Given the description of an element on the screen output the (x, y) to click on. 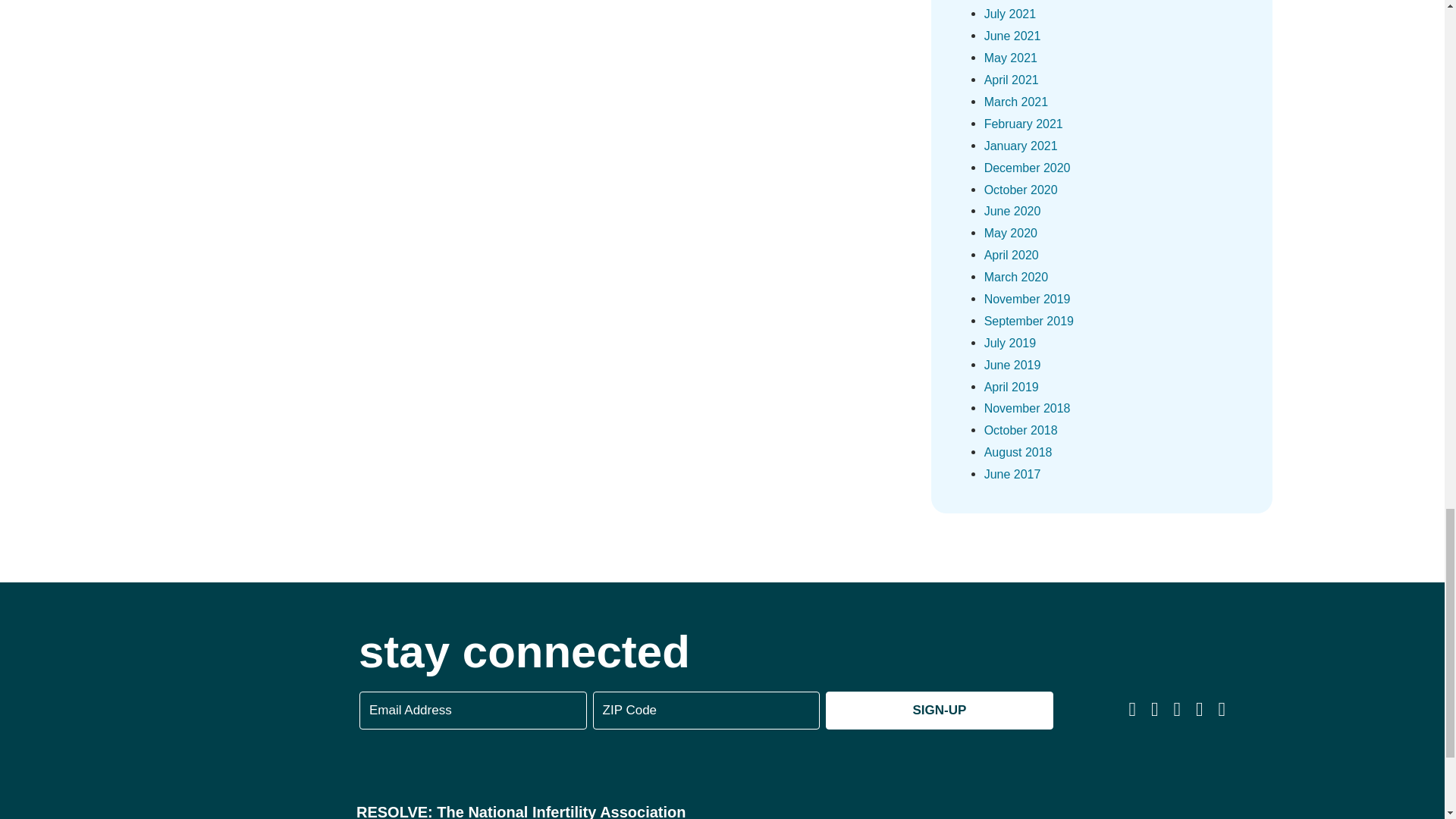
Twitter (1154, 709)
Facebook (1133, 709)
Instagram (1176, 709)
7235119 (908, 806)
NHC SOE Cmyk (1102, 806)
TikTok (1221, 709)
Youtube (1199, 709)
Icon Large (166, 685)
Logo Bestin (1003, 806)
SIGN-UP (938, 710)
